Given the description of an element on the screen output the (x, y) to click on. 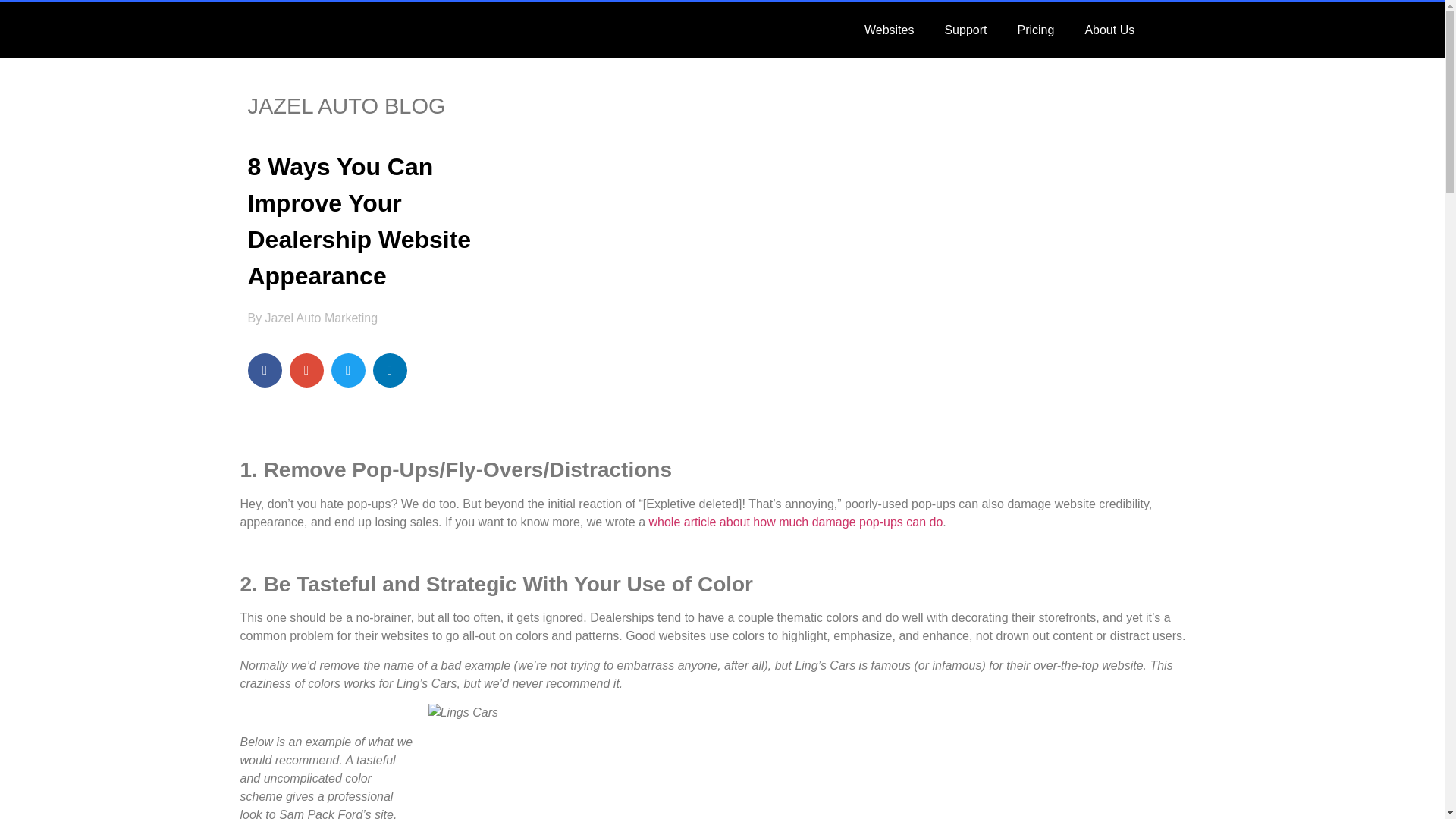
Pricing (1034, 29)
Websites (889, 29)
About Us (1109, 29)
whole article about how much damage pop-ups can do (794, 521)
Support (964, 29)
